Given the description of an element on the screen output the (x, y) to click on. 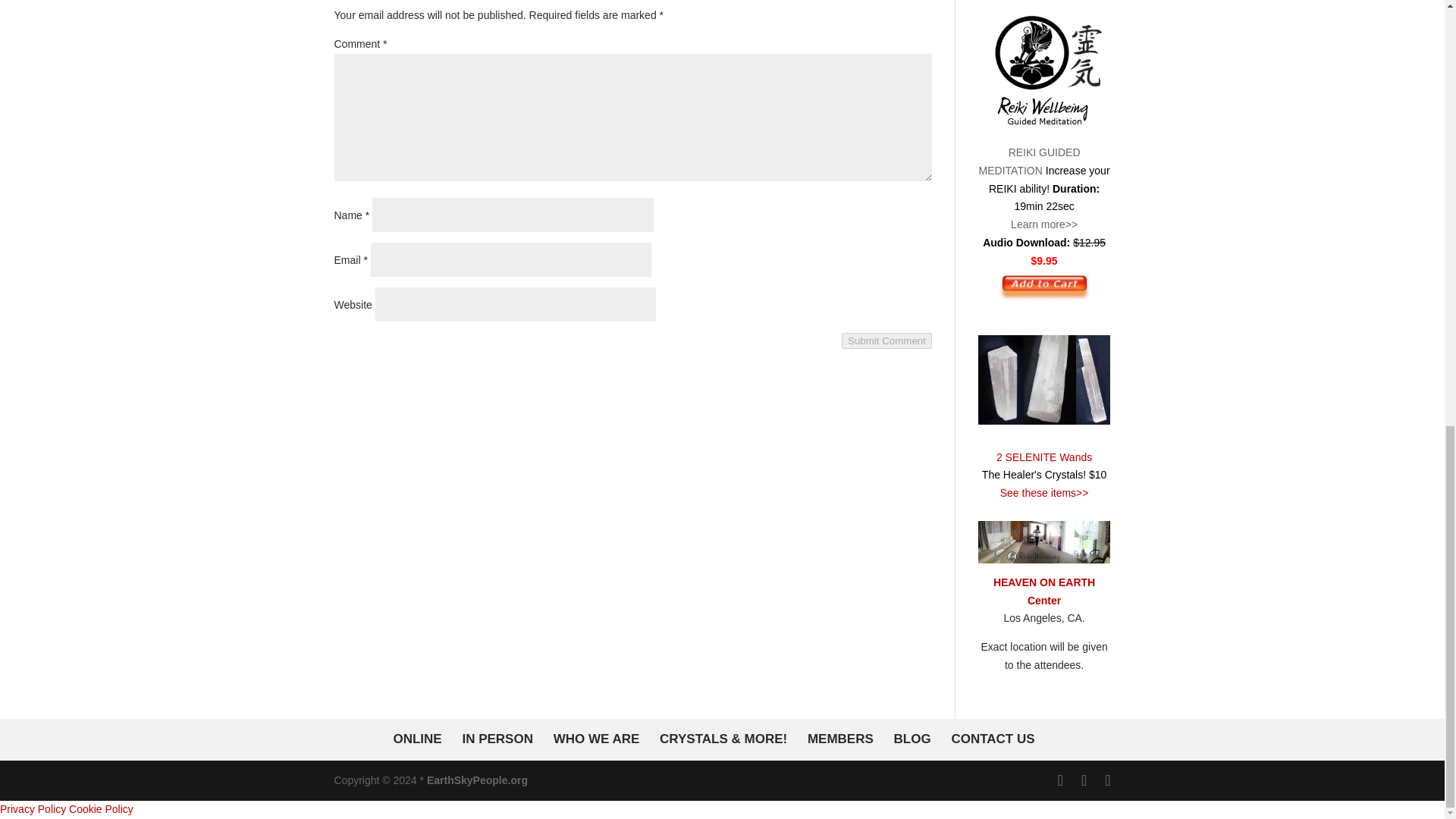
Privacy Policy  (32, 808)
BLOG (912, 739)
CONTACT US (991, 739)
REIKI GUIDED MEDITATION (1044, 151)
HEAVEN ON EARTH Center (1043, 591)
WHO WE ARE (596, 739)
Cookie Policy  (100, 808)
ONLINE (417, 739)
IN PERSON (496, 739)
MEMBERS (840, 739)
